Given the description of an element on the screen output the (x, y) to click on. 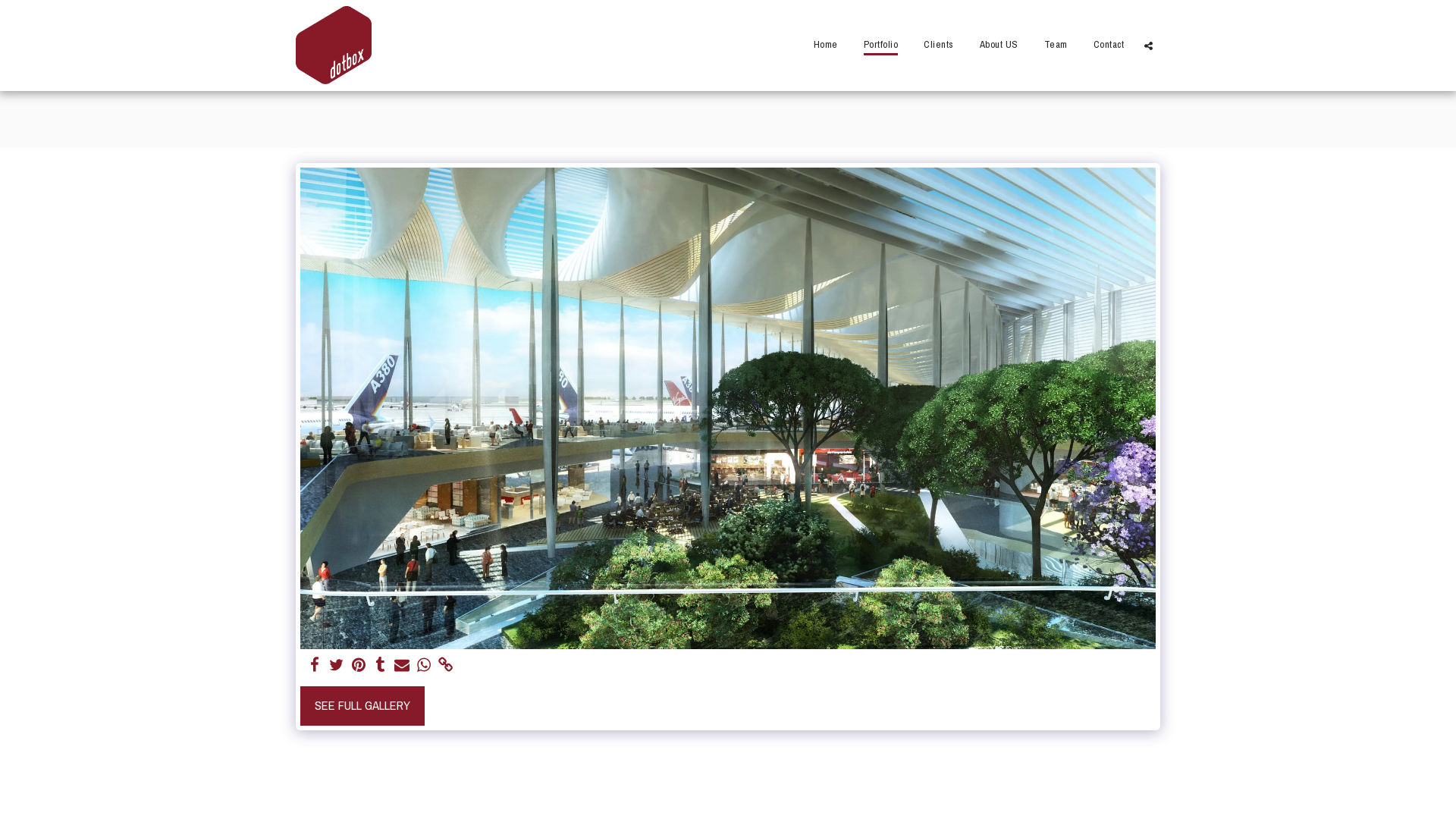
Pin it Element type: hover (358, 665)
Clients Element type: text (938, 44)
Tweet Element type: hover (336, 665)
whatsapp Element type: hover (424, 665)
  Element type: text (424, 665)
link Element type: hover (446, 665)
  Element type: text (314, 665)
  Element type: text (402, 665)
Portfolio Element type: text (880, 44)
Home Element type: text (824, 44)
tumblr Element type: hover (380, 665)
Share by Email Element type: hover (402, 665)
Contact Element type: text (1108, 44)
Share on Facebook Element type: hover (314, 665)
Team Element type: text (1055, 44)
  Element type: text (380, 665)
SEE FULL GALLERY Element type: text (362, 705)
  Element type: text (336, 665)
  Element type: text (446, 665)
About US Element type: text (998, 44)
  Element type: text (358, 665)
  Element type: text (1148, 44)
